Given the description of an element on the screen output the (x, y) to click on. 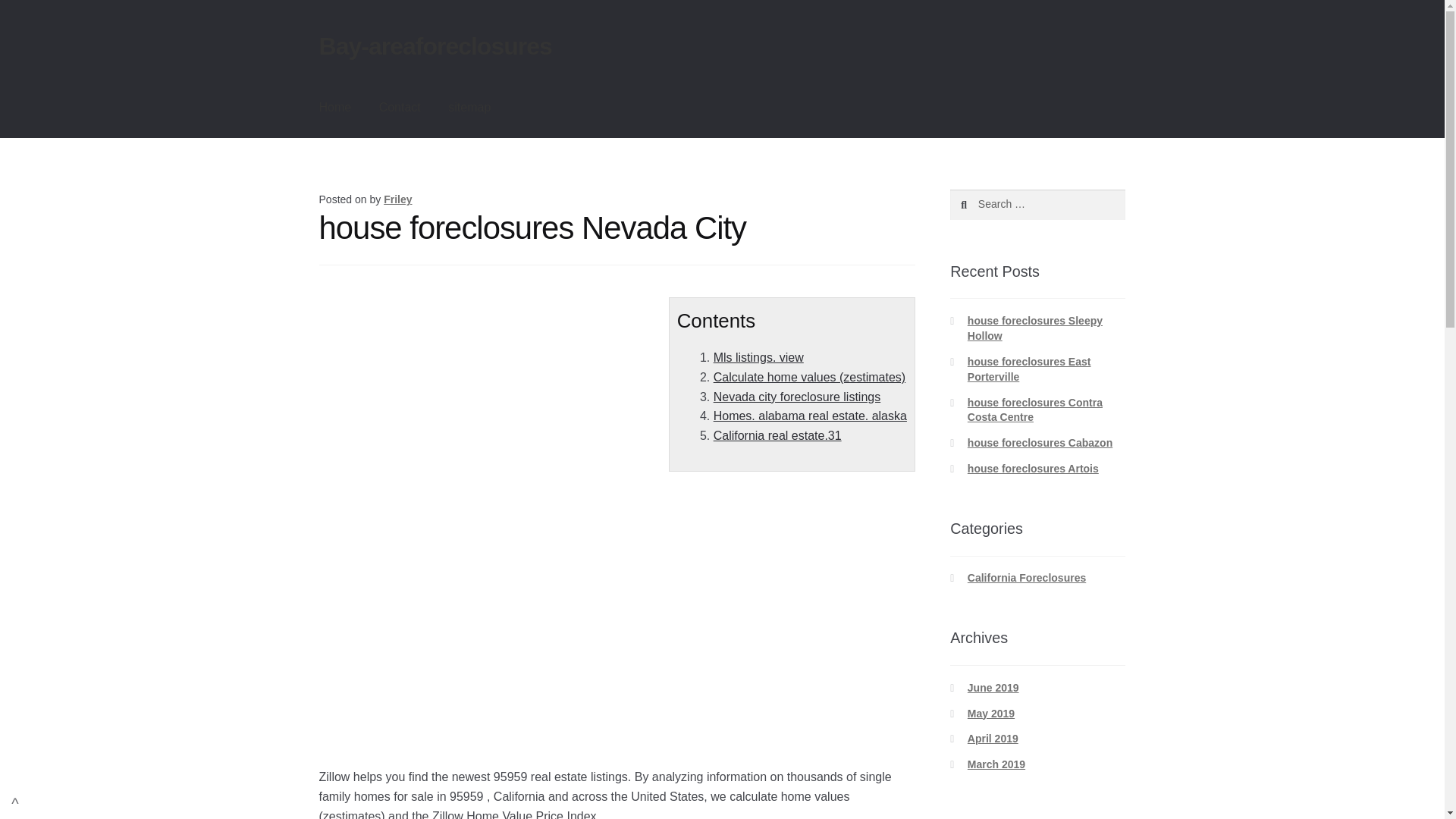
Friley (398, 199)
house foreclosures Sleepy Hollow (1035, 328)
Mls listings. view (758, 357)
house foreclosures East Porterville (1029, 369)
April 2019 (992, 738)
Home (335, 107)
house foreclosures Artois (1033, 468)
Contact (399, 107)
house foreclosures Cabazon (1040, 442)
Nevada city foreclosure listings (796, 396)
California Foreclosures (1027, 577)
